Given the description of an element on the screen output the (x, y) to click on. 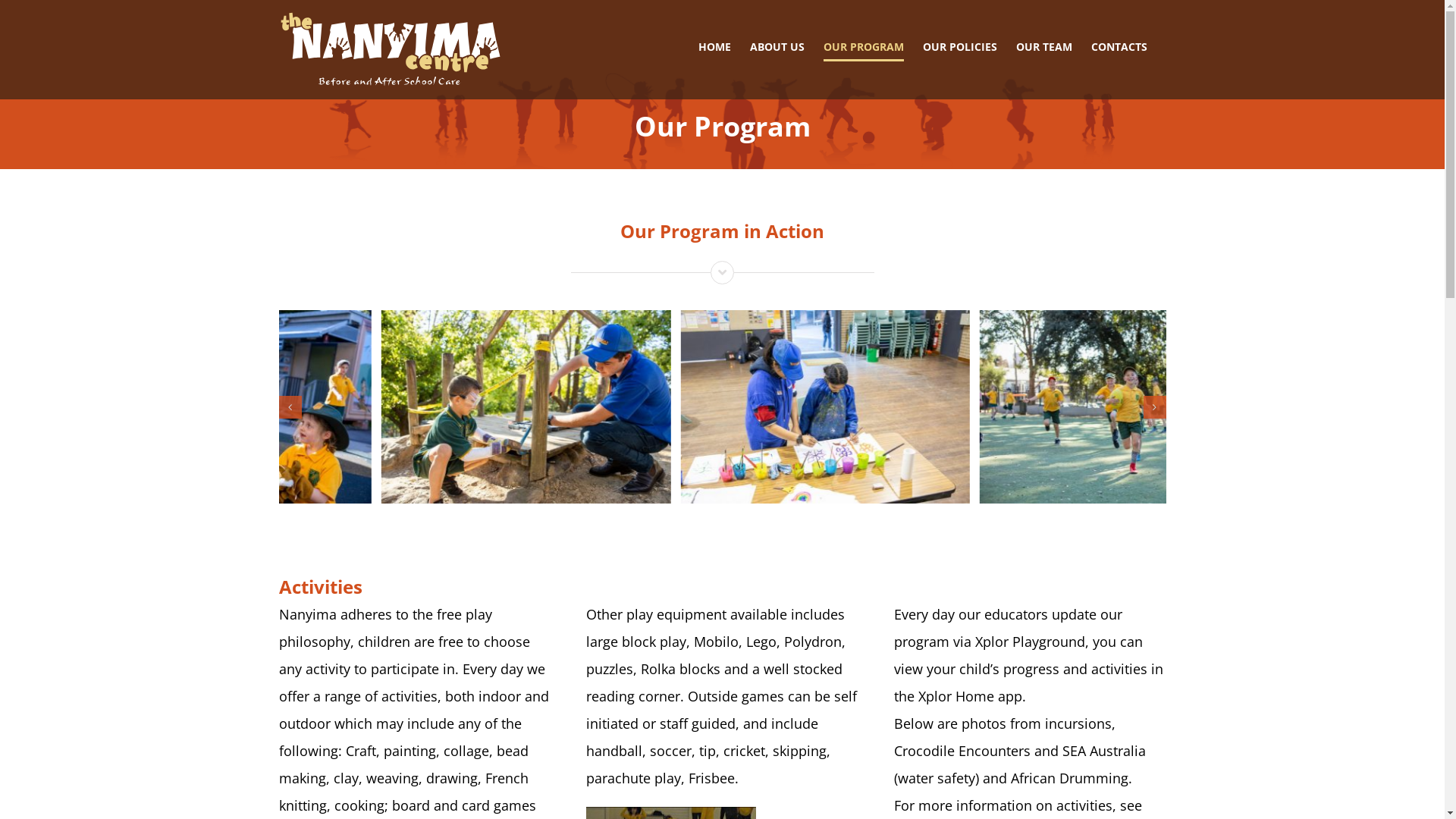
OUR POLICIES Element type: text (959, 46)
ABOUT US Element type: text (776, 46)
OUR TEAM Element type: text (1044, 46)
HOME Element type: text (713, 46)
CONTACTS Element type: text (1118, 46)
OUR PROGRAM Element type: text (863, 46)
